Given the description of an element on the screen output the (x, y) to click on. 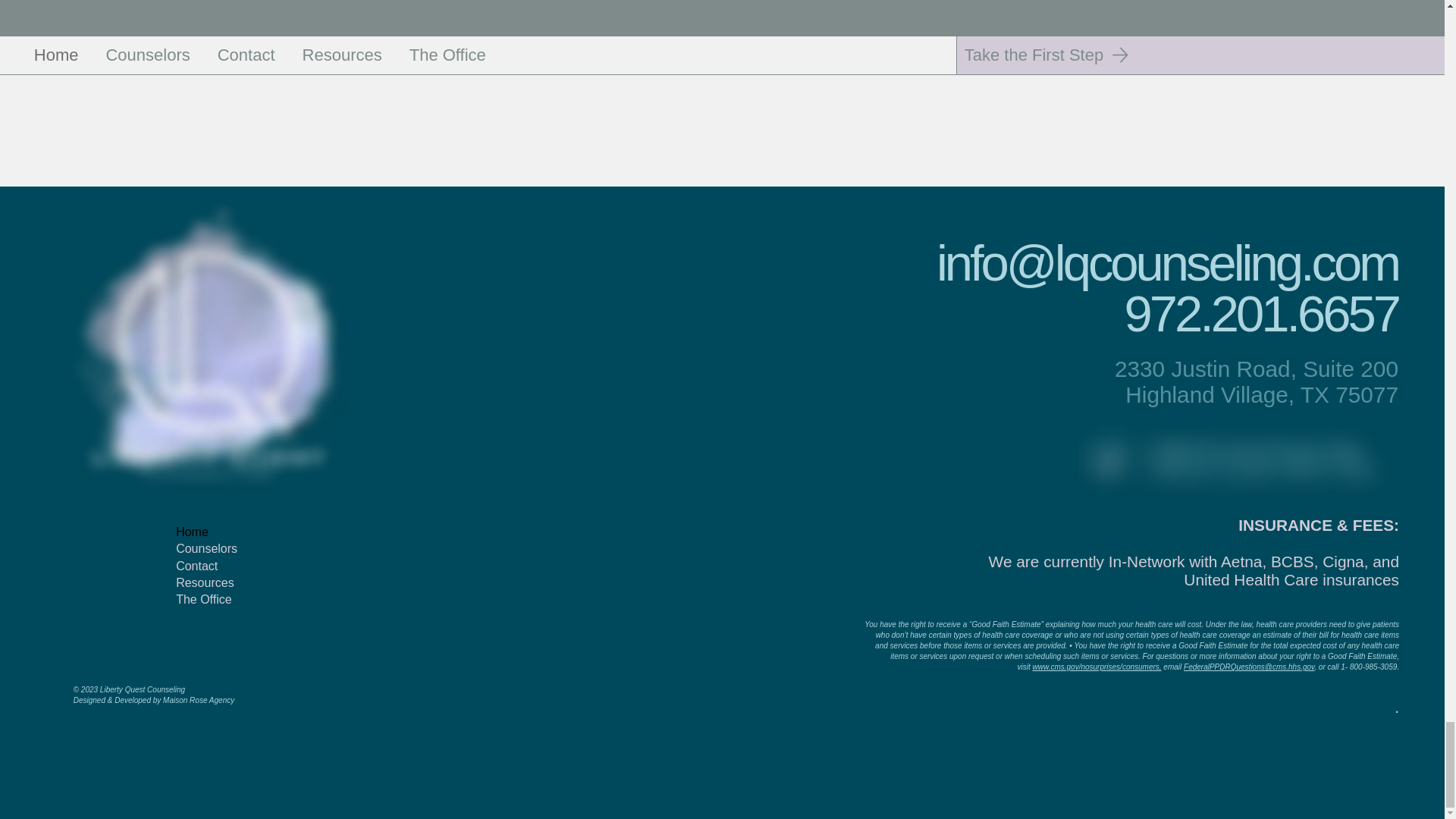
Resources (236, 582)
Counselors (236, 548)
Contact (236, 565)
Home (236, 532)
Submit (186, 51)
The Office (236, 599)
